Given the description of an element on the screen output the (x, y) to click on. 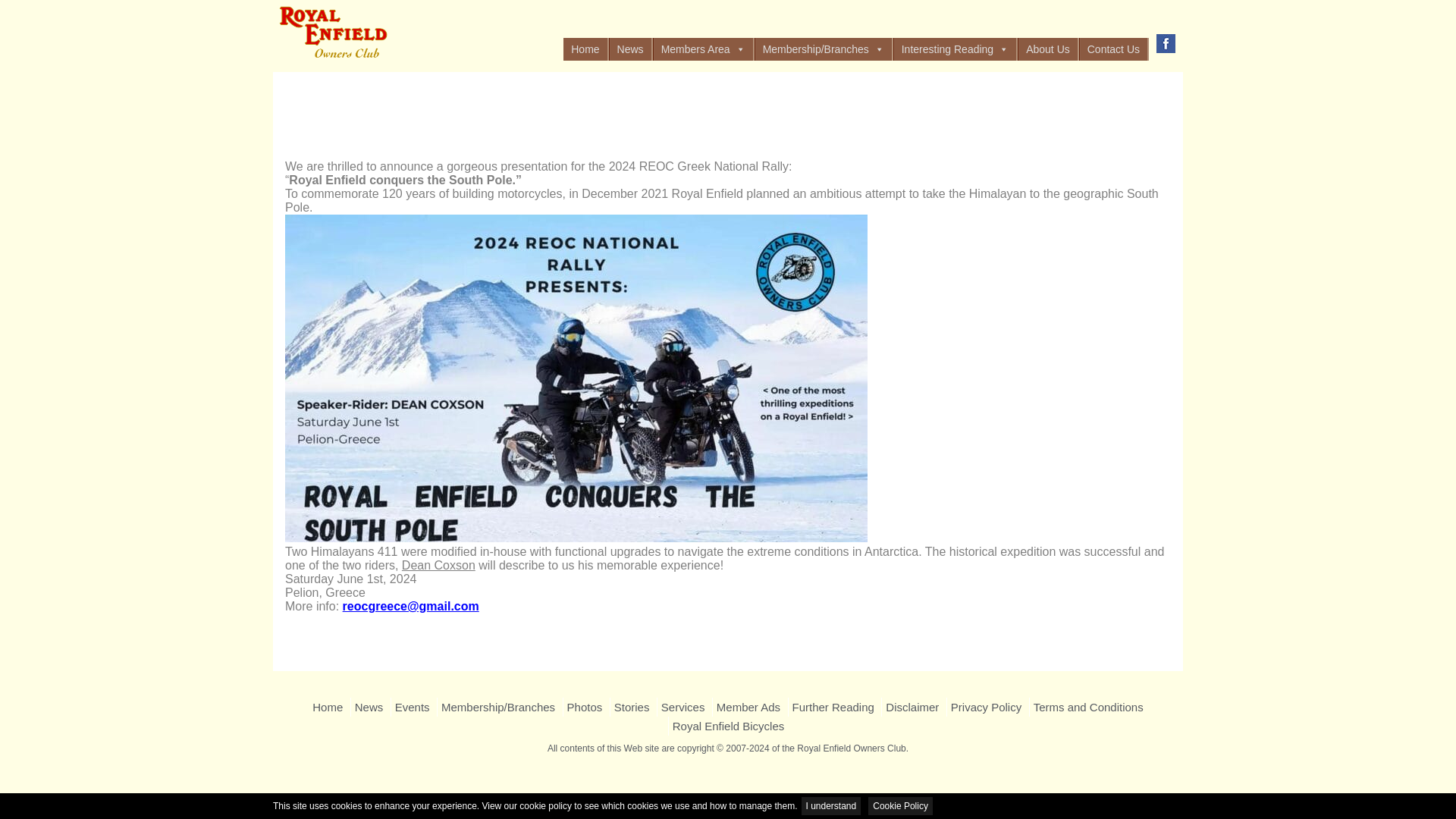
News (630, 48)
Home (585, 48)
Members Area (702, 48)
